Given the description of an element on the screen output the (x, y) to click on. 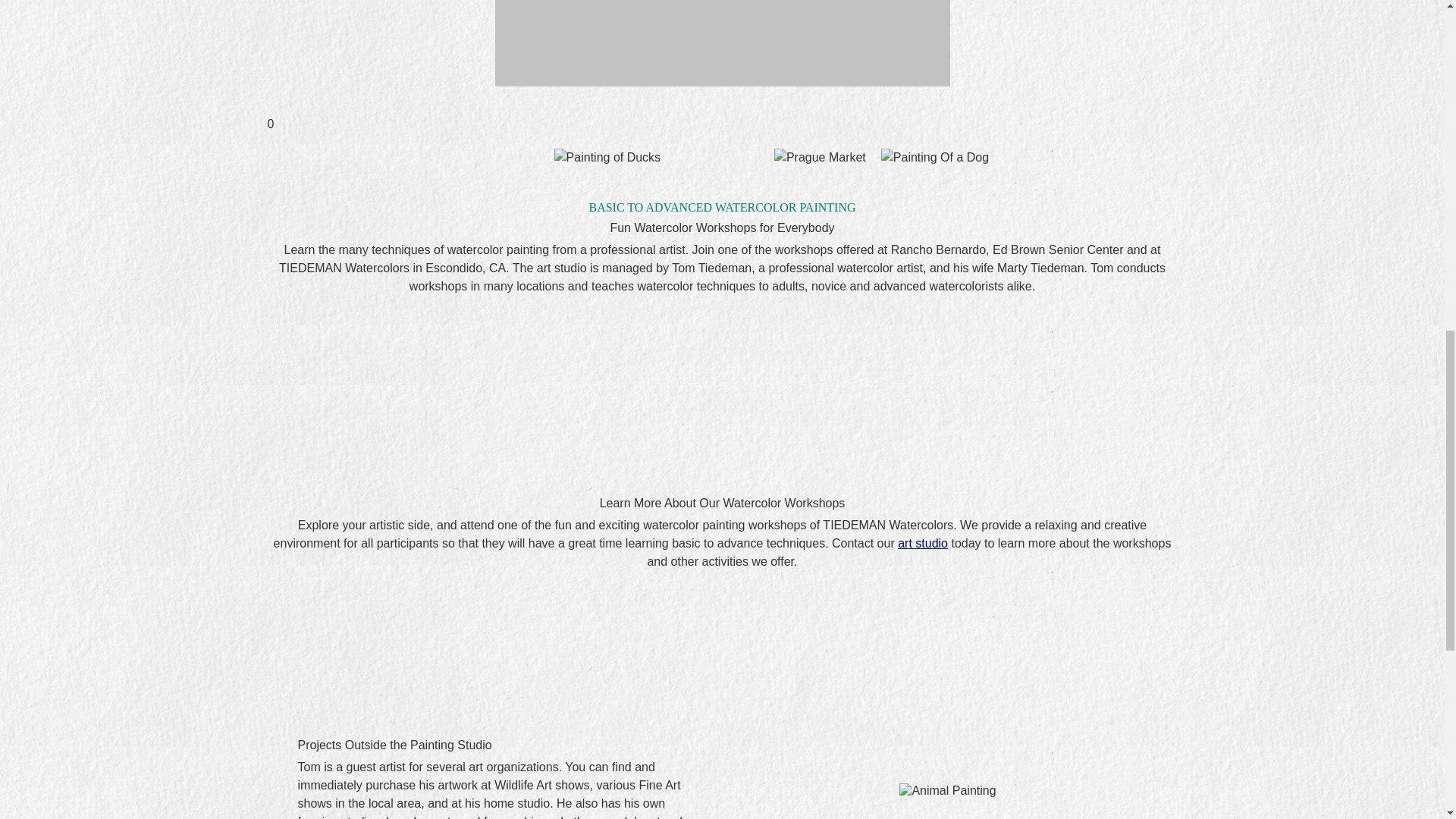
Prague Market (820, 157)
Painting Of a Dog (934, 157)
Painting of Ducks (607, 157)
 Animal Painting  (947, 789)
art studio (922, 543)
